Given the description of an element on the screen output the (x, y) to click on. 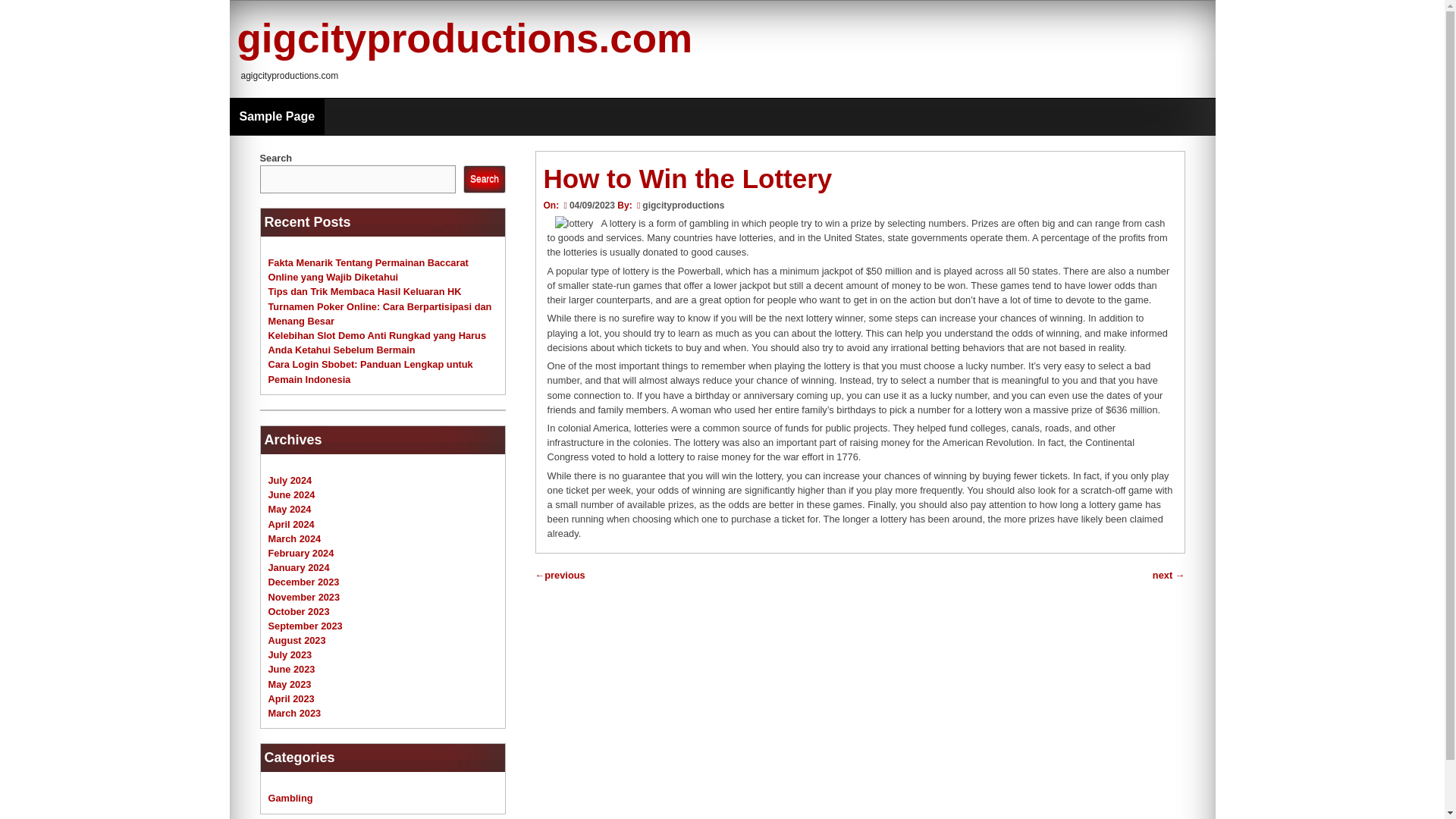
Turnamen Poker Online: Cara Berpartisipasi dan Menang Besar (379, 313)
February 2024 (300, 552)
gigcityproductions.com (464, 37)
June 2023 (291, 668)
October 2023 (298, 611)
April 2024 (290, 523)
September 2023 (304, 625)
Cara Login Sbobet: Panduan Lengkap untuk Pemain Indonesia (370, 371)
Gambling (290, 797)
March 2023 (294, 713)
November 2023 (303, 596)
Tips dan Trik Membaca Hasil Keluaran HK (364, 291)
July 2024 (290, 480)
June 2024 (291, 494)
